Given the description of an element on the screen output the (x, y) to click on. 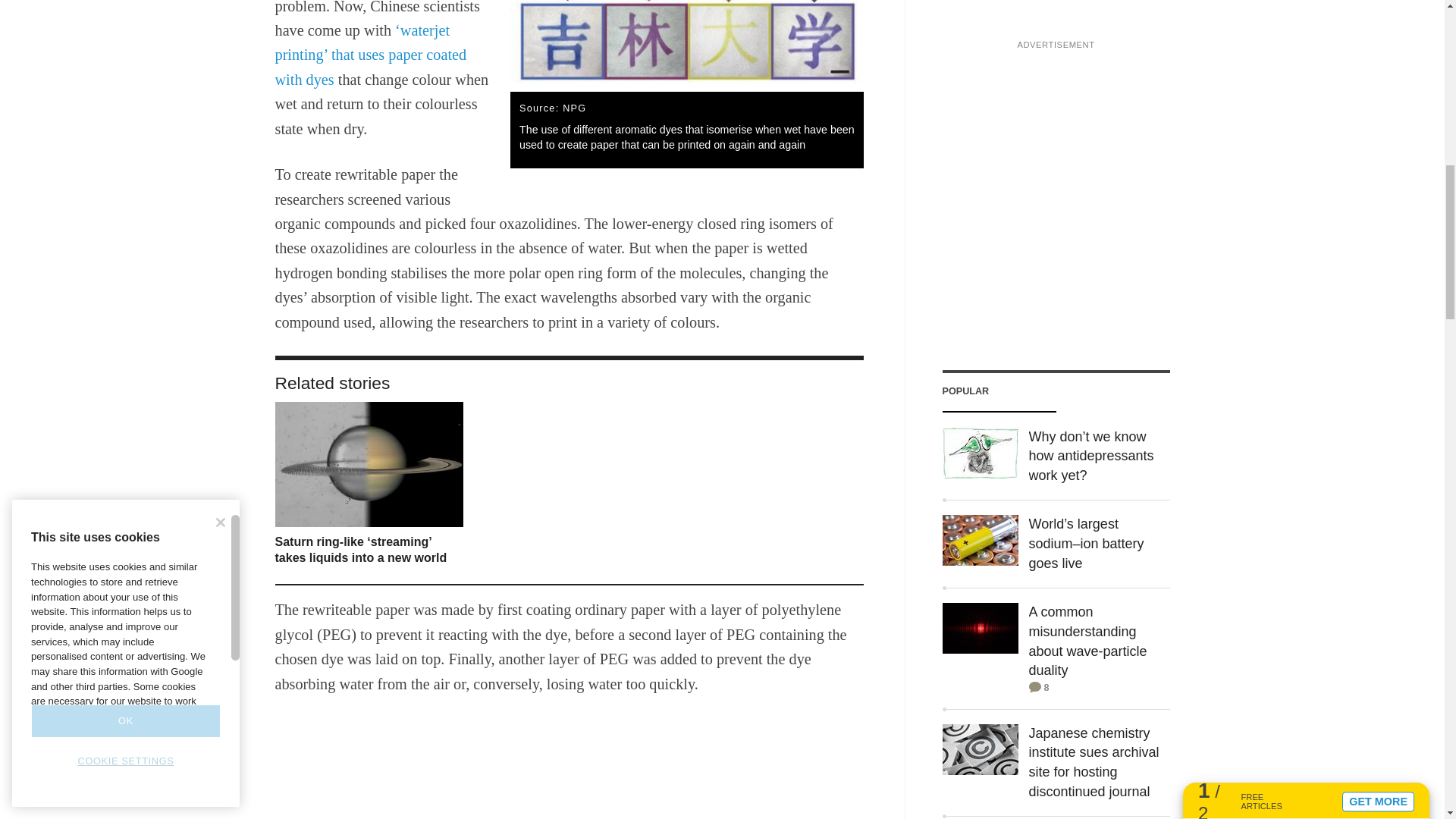
YouTube video player (569, 768)
